Given the description of an element on the screen output the (x, y) to click on. 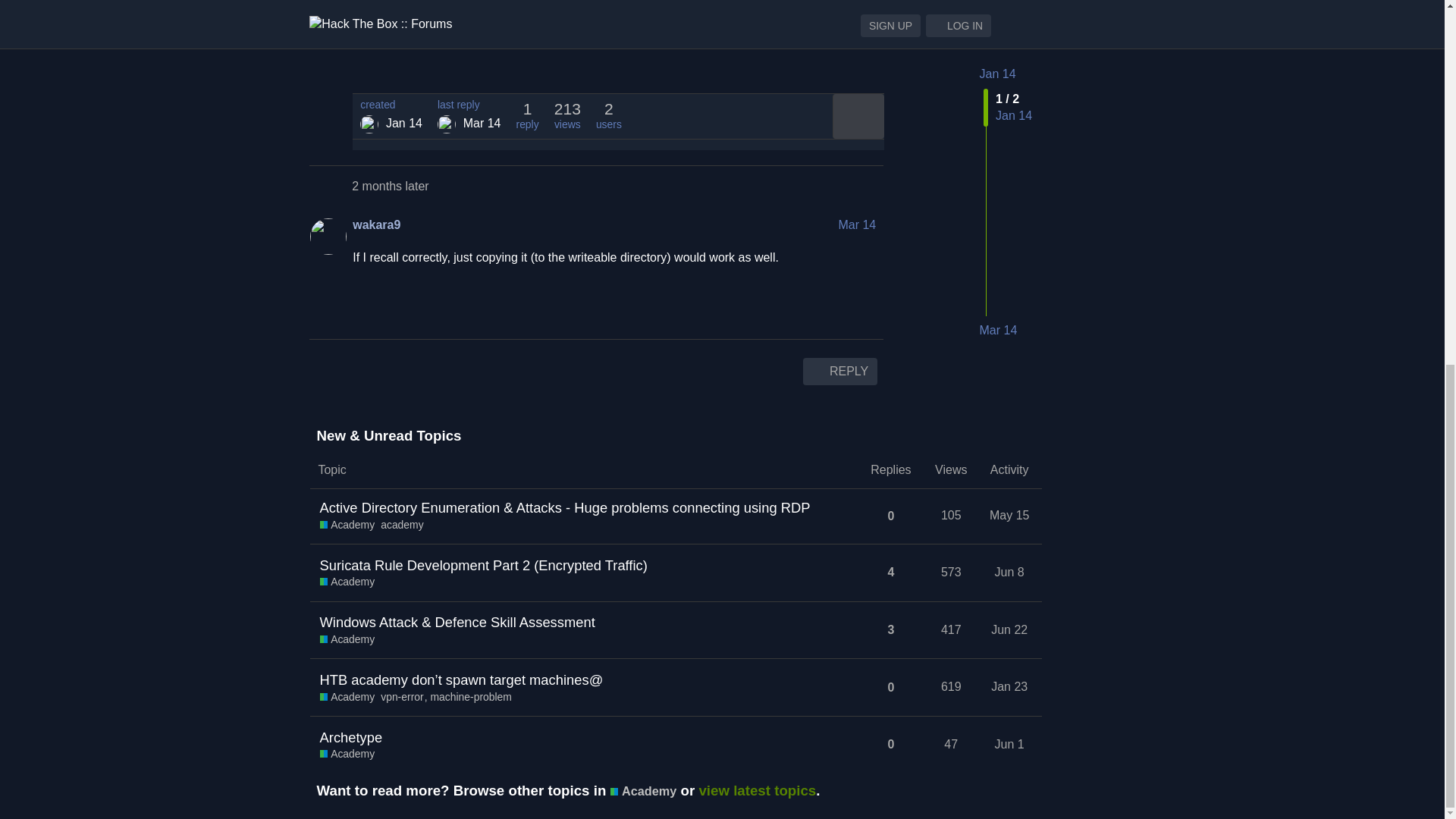
Mar 14 (857, 224)
expand topic details (857, 116)
REPLY (839, 370)
last reply (469, 104)
MuteSpittah (368, 124)
May 15 (1008, 515)
Academy (347, 581)
like this post (835, 63)
wakara9 (376, 225)
academy (401, 525)
Academy (347, 525)
Jan 14, 2024 2:05 am (403, 123)
copy a link to this post to clipboard (869, 63)
wakara9 (446, 124)
